Given the description of an element on the screen output the (x, y) to click on. 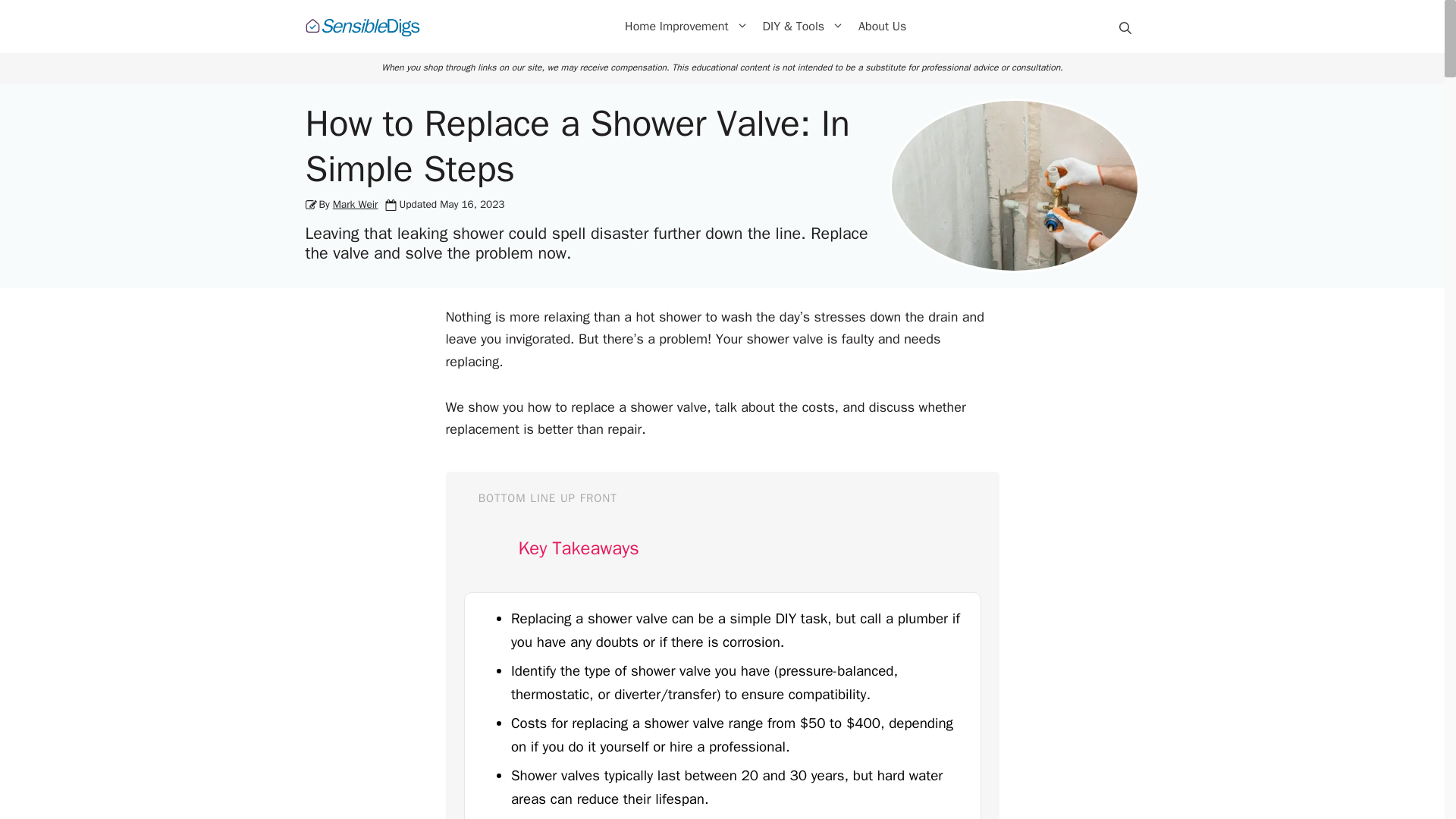
Sensible Digs (361, 26)
About Us (882, 26)
Home Improvement (361, 26)
Mark Weir (685, 26)
